Given the description of an element on the screen output the (x, y) to click on. 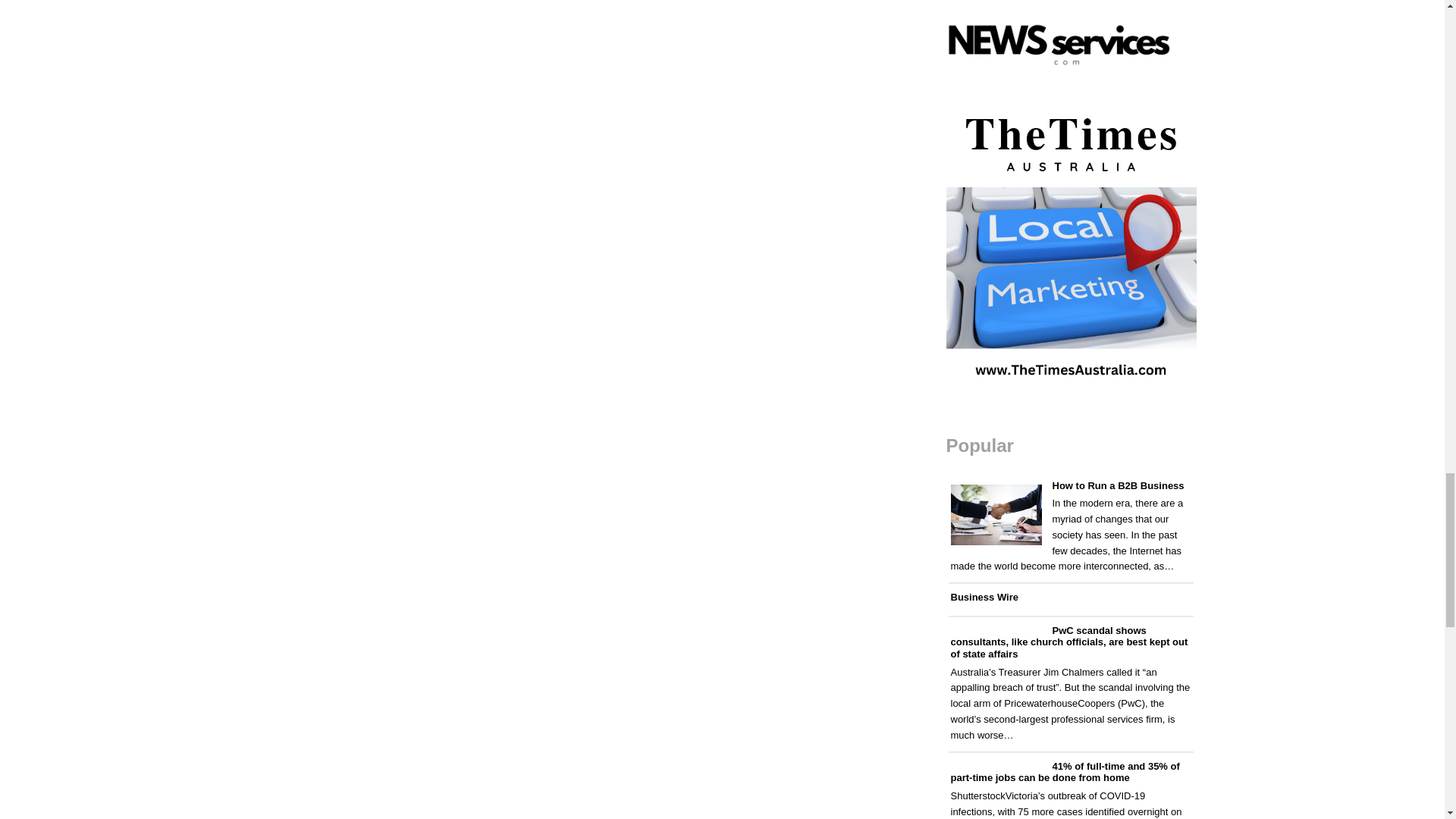
Business Wire (983, 596)
How to Run a B2B Business (1118, 485)
